Given the description of an element on the screen output the (x, y) to click on. 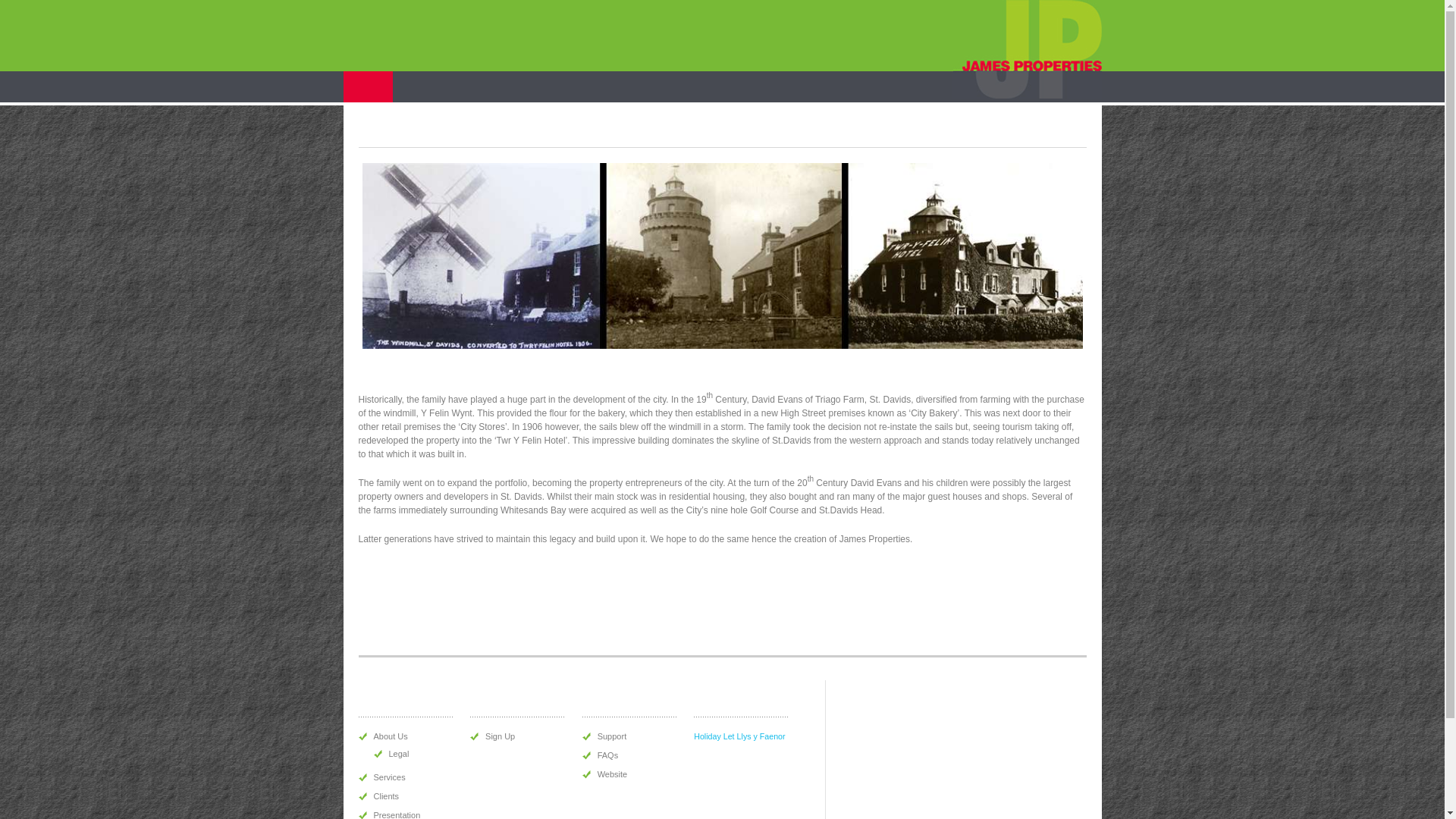
Legal (398, 753)
About Us (389, 736)
Clients (385, 795)
Llys y Faenor (773, 86)
Holiday Let (691, 86)
Commercial Properties (587, 86)
FAQs (607, 755)
Sign Up (499, 736)
Presentation (396, 814)
Llys y Faenor (761, 736)
Blog (949, 86)
Holiday Let (713, 736)
Contact Us (1007, 86)
Support (611, 736)
Residential Properties (457, 86)
